Given the description of an element on the screen output the (x, y) to click on. 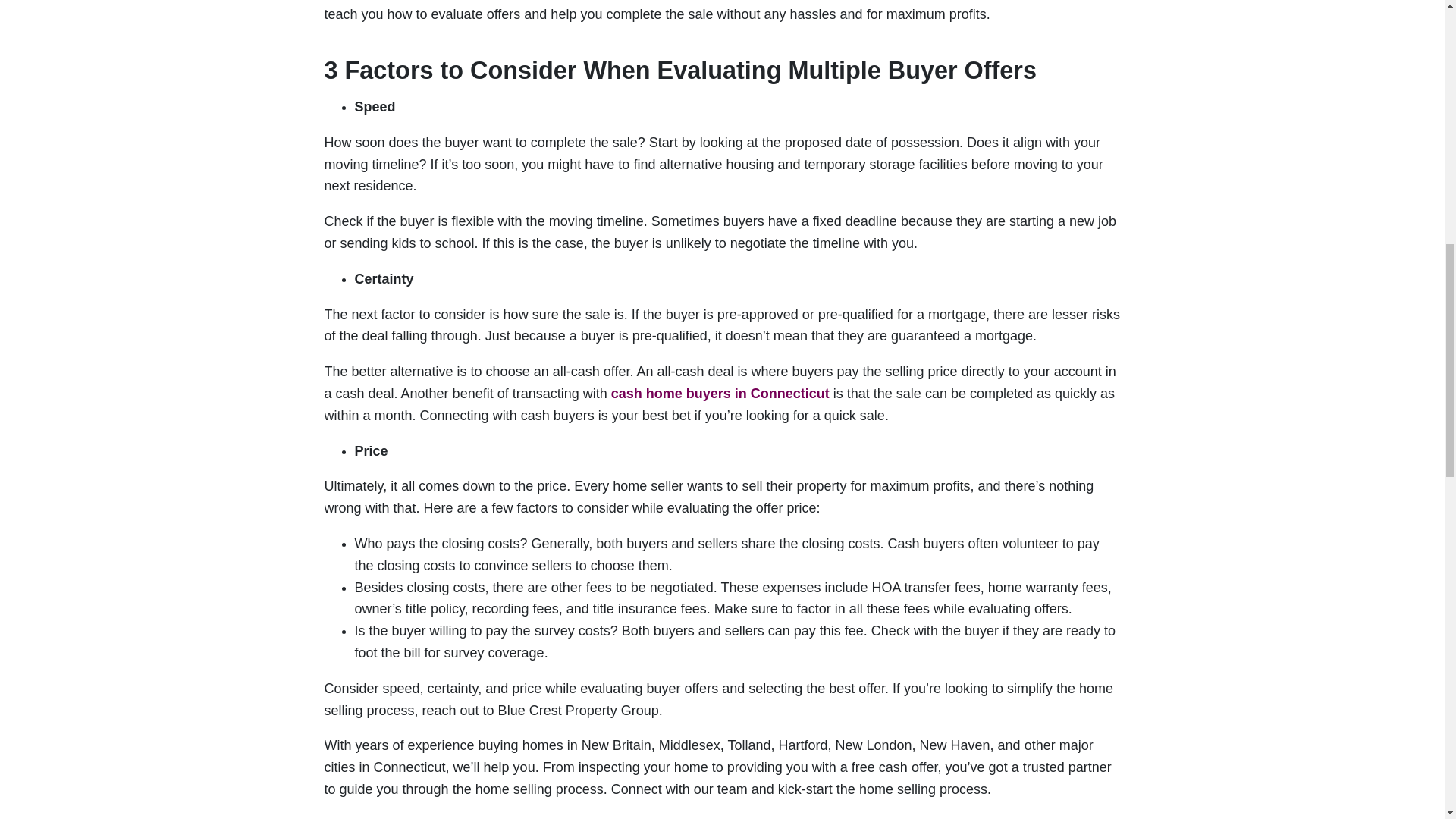
cash home buyers in Connecticut (720, 393)
